Given the description of an element on the screen output the (x, y) to click on. 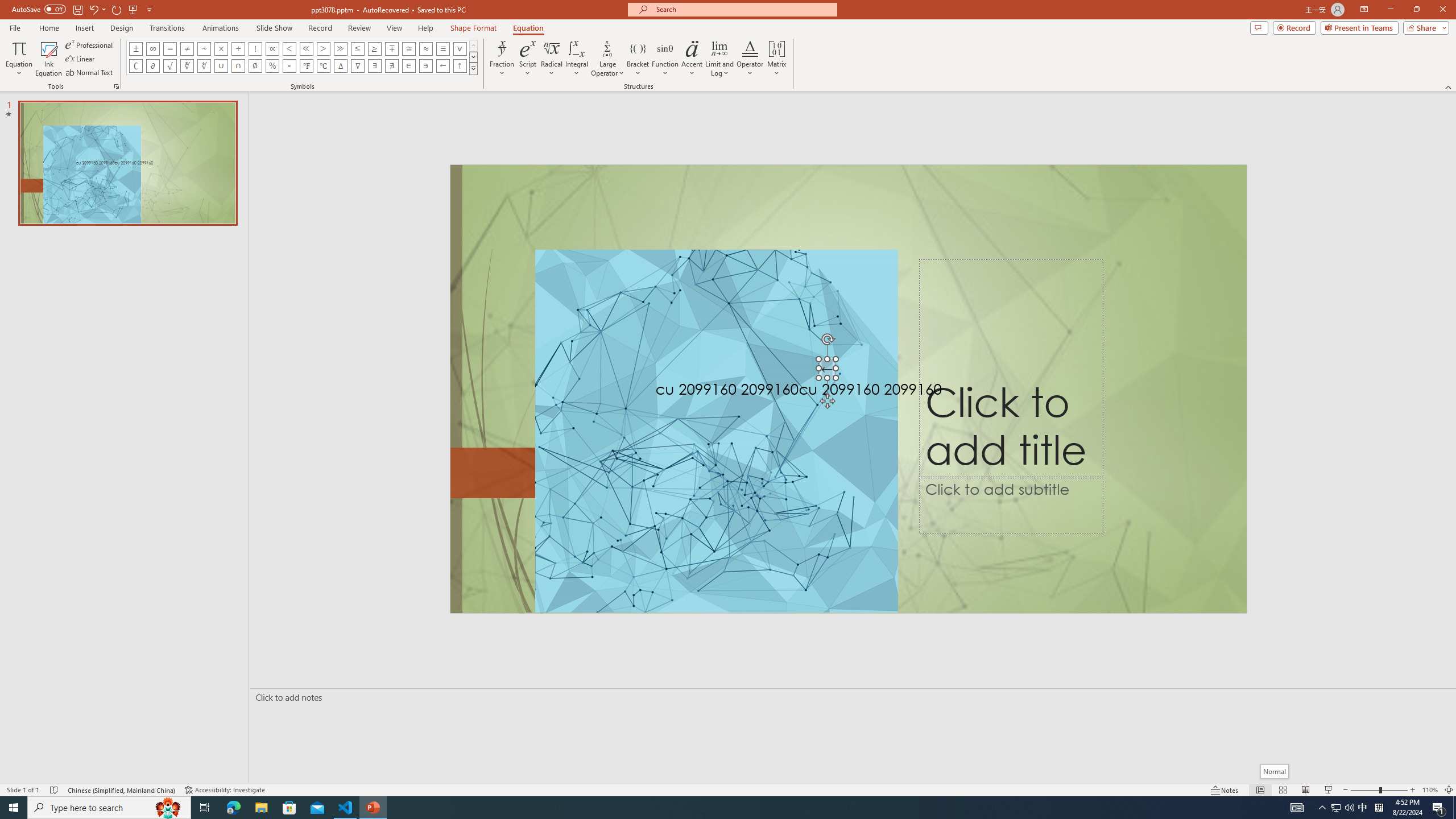
Equation Symbol Minus Plus (391, 48)
Equation Symbol Radical Sign (170, 65)
Bracket (638, 58)
Equation Symbol Approximately Equal To (408, 48)
Equation Symbol Identical To (442, 48)
Fraction (502, 58)
